Given the description of an element on the screen output the (x, y) to click on. 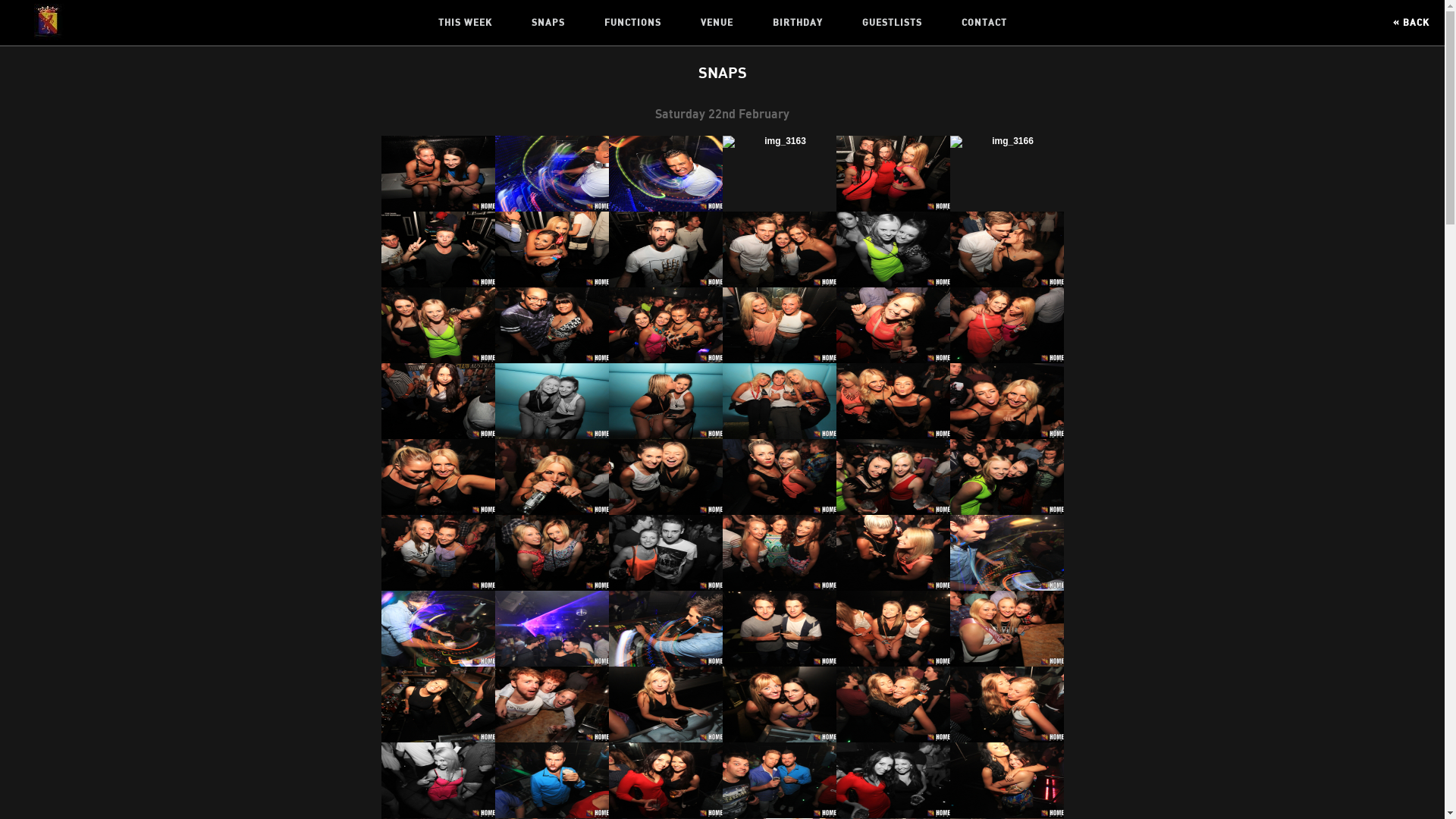
  Element type: hover (892, 401)
  Element type: hover (892, 704)
  Element type: hover (892, 552)
  Element type: hover (437, 173)
  Element type: hover (664, 628)
  Element type: hover (551, 552)
  Element type: hover (778, 249)
  Element type: hover (892, 173)
  Element type: hover (437, 325)
  Element type: hover (778, 704)
GUESTLISTS Element type: text (891, 22)
  Element type: hover (778, 173)
VENUE Element type: text (716, 22)
  Element type: hover (551, 704)
  Element type: hover (892, 249)
  Element type: hover (892, 325)
  Element type: hover (664, 552)
  Element type: hover (778, 628)
  Element type: hover (1006, 401)
  Element type: hover (551, 249)
  Element type: hover (437, 704)
  Element type: hover (664, 704)
  Element type: hover (664, 401)
  Element type: hover (778, 552)
BIRTHDAY Element type: text (796, 22)
  Element type: hover (437, 401)
  Element type: hover (437, 476)
CONTACT Element type: text (984, 22)
  Element type: hover (1006, 552)
  Element type: hover (1006, 325)
  Element type: hover (778, 325)
THIS WEEK Element type: text (465, 22)
  Element type: hover (664, 249)
  Element type: hover (1006, 704)
  Element type: hover (437, 780)
  Element type: hover (1006, 249)
  Element type: hover (437, 249)
  Element type: hover (551, 476)
  Element type: hover (1006, 173)
  Element type: hover (664, 780)
SNAPS Element type: text (547, 22)
  Element type: hover (778, 476)
  Element type: hover (664, 173)
  Element type: hover (437, 552)
  Element type: hover (551, 780)
  Element type: hover (551, 628)
  Element type: hover (892, 780)
  Element type: hover (437, 628)
  Element type: hover (1006, 476)
  Element type: hover (1006, 628)
  Element type: hover (1006, 780)
  Element type: hover (551, 401)
FUNCTIONS Element type: text (631, 22)
  Element type: hover (551, 325)
  Element type: hover (778, 401)
  Element type: hover (664, 325)
  Element type: hover (778, 780)
  Element type: hover (664, 476)
  Element type: hover (892, 628)
  Element type: hover (892, 476)
  Element type: hover (551, 173)
